Given the description of an element on the screen output the (x, y) to click on. 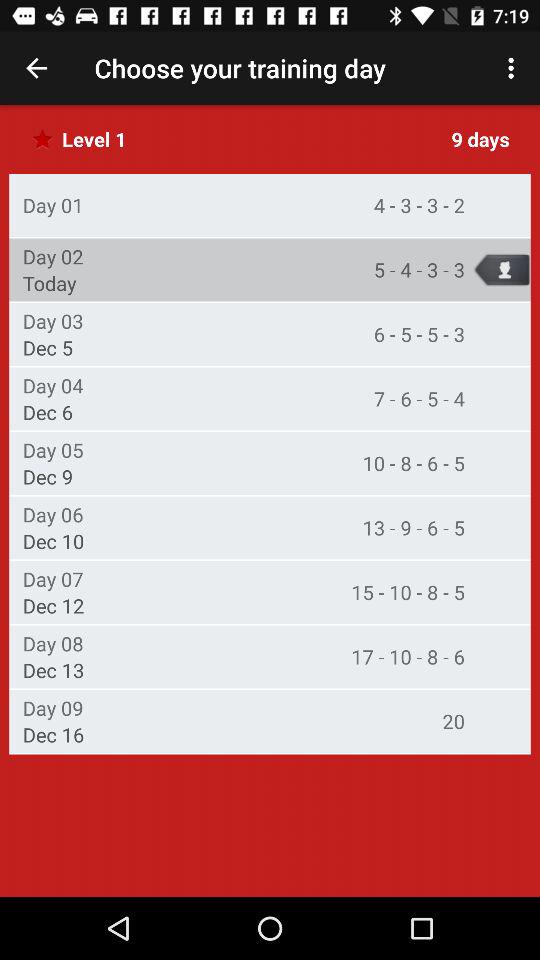
click the icon below the day 03 item (47, 347)
